Given the description of an element on the screen output the (x, y) to click on. 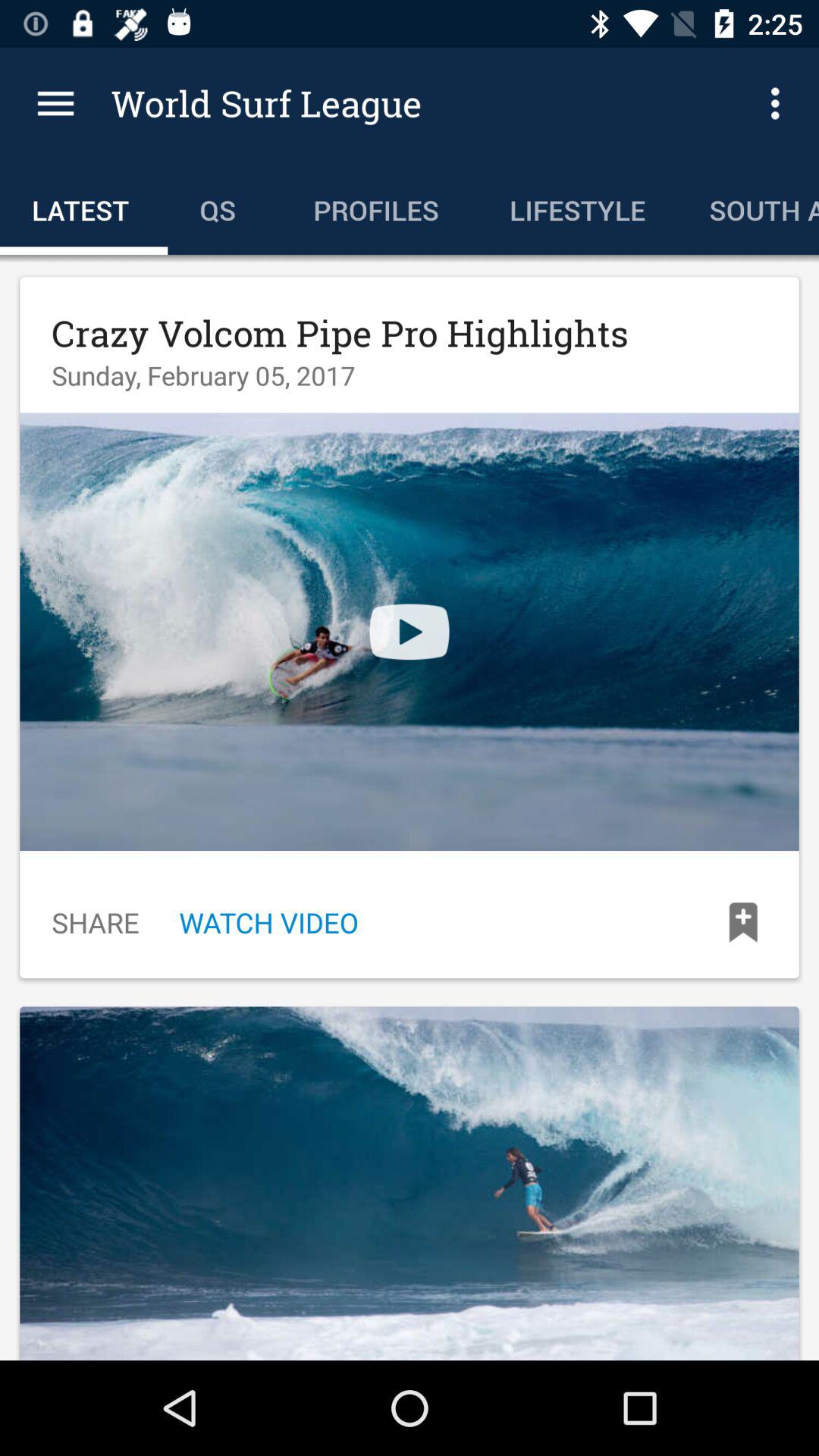
select the profiles  icon (379, 206)
